Given the description of an element on the screen output the (x, y) to click on. 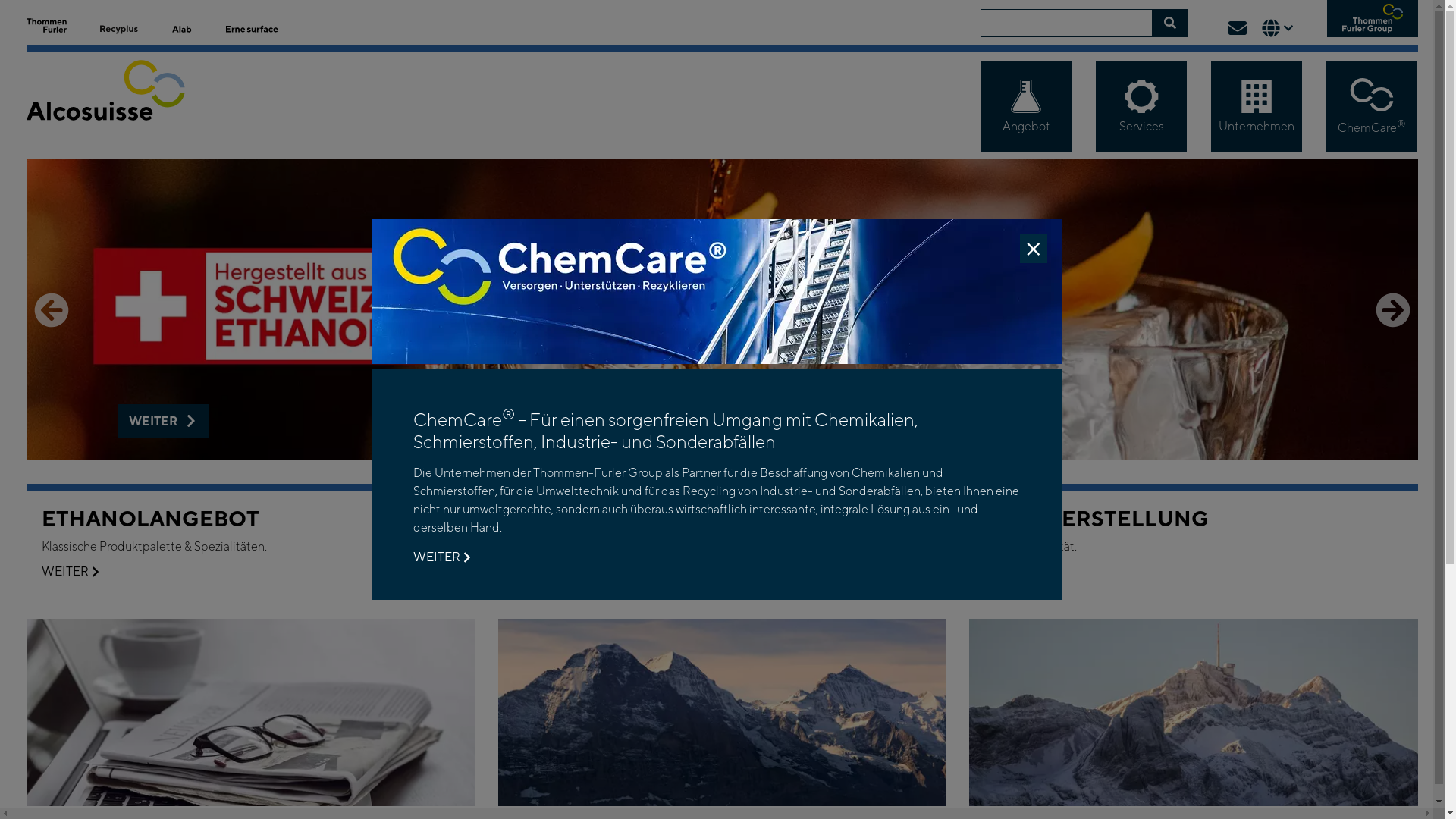
Unternehmen Element type: text (1256, 105)
WEITER Element type: text (1012, 571)
WEITER Element type: text (440, 557)
WEITER Element type: text (541, 571)
WEITER Element type: text (162, 420)
Angebot Element type: text (1025, 105)
WEITER Element type: text (69, 571)
Services Element type: text (1140, 105)
Kontakt & Standorte Element type: hover (1237, 27)
Home Element type: hover (118, 104)
